Given the description of an element on the screen output the (x, y) to click on. 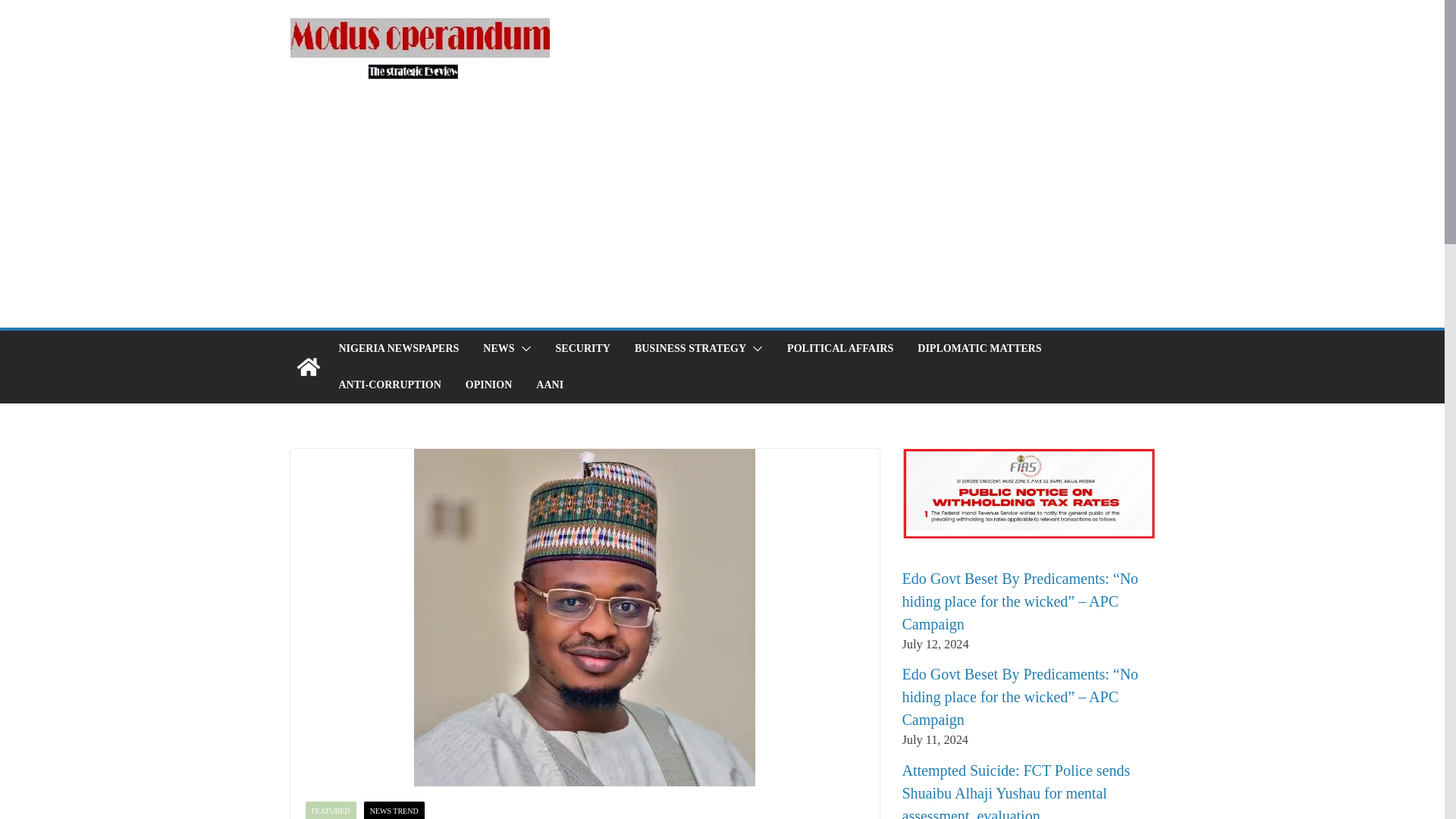
ANTI-CORRUPTION (389, 384)
NIGERIA NEWSPAPERS (397, 348)
SECURITY (583, 348)
FEATURED (329, 810)
NEWS (498, 348)
OPINION (488, 384)
DIPLOMATIC MATTERS (979, 348)
BUSINESS STRATEGY (689, 348)
POLITICAL AFFAIRS (840, 348)
NEWS TREND (394, 810)
Modus Operandum (307, 366)
AANI (549, 384)
